Given the description of an element on the screen output the (x, y) to click on. 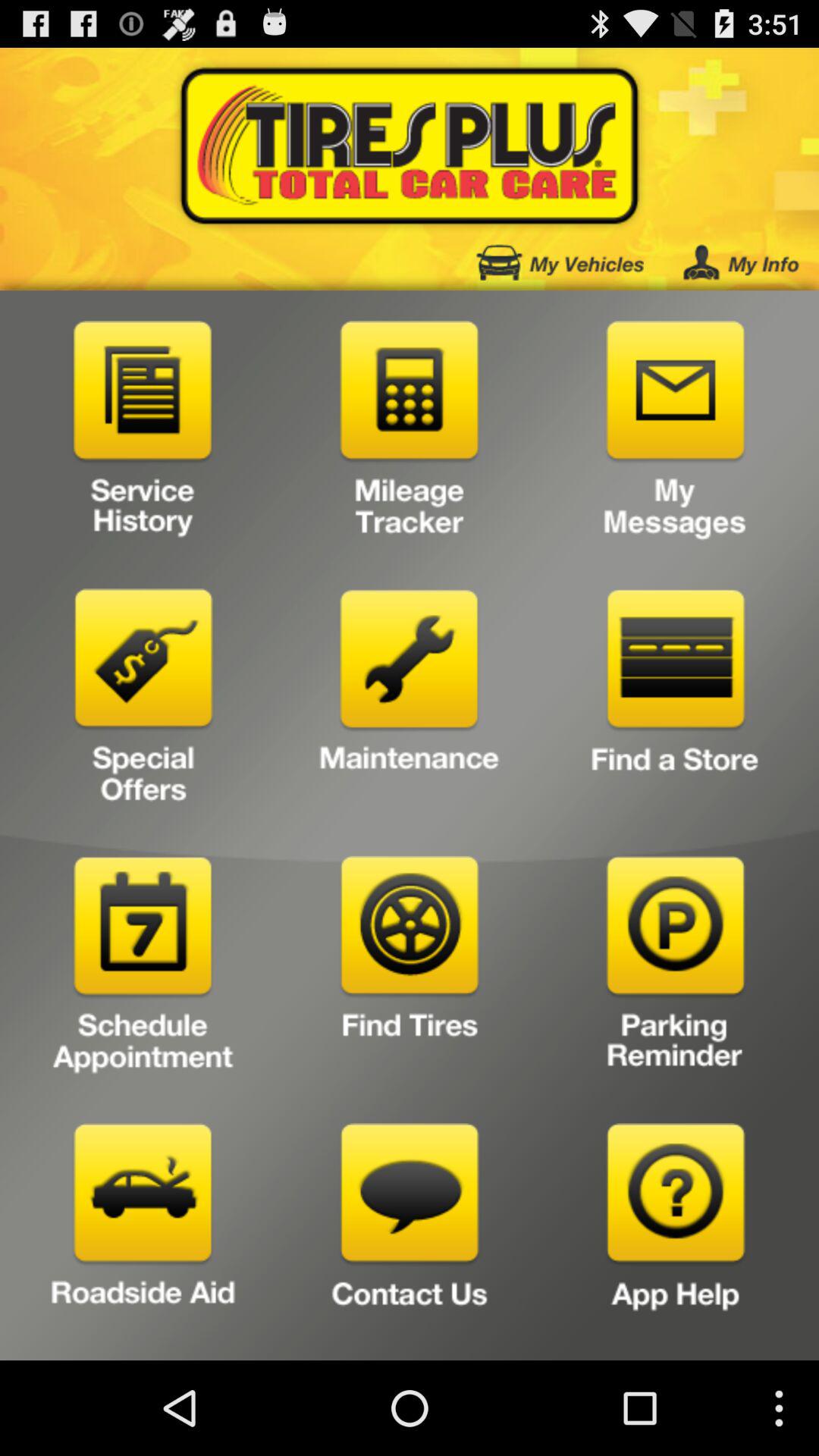
app help (675, 1236)
